Given the description of an element on the screen output the (x, y) to click on. 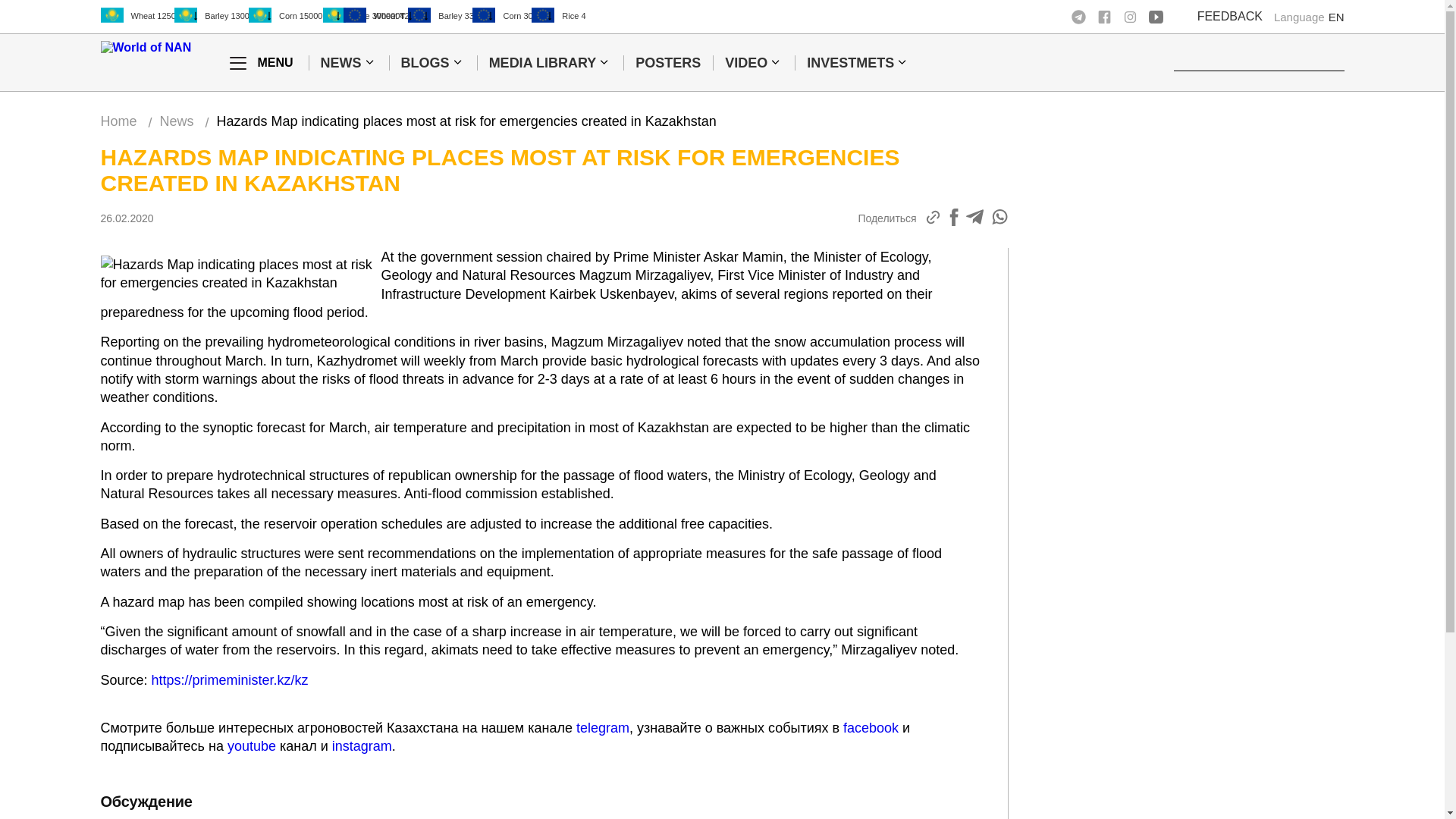
FEEDBACK (1229, 16)
NEWS (340, 63)
BLOGS (425, 63)
